Given the description of an element on the screen output the (x, y) to click on. 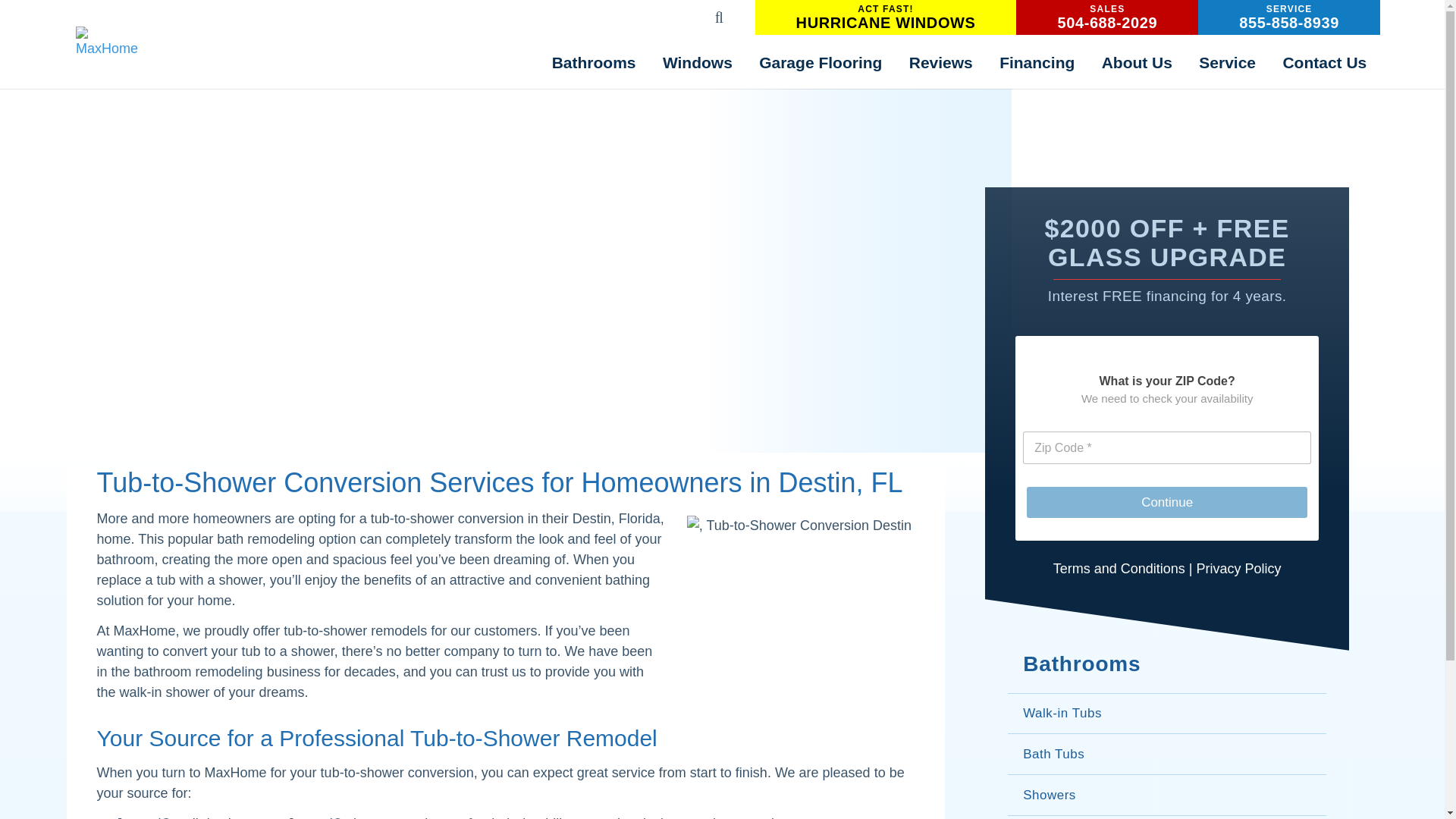
Search (986, 9)
MaxHome (106, 43)
Bathrooms (593, 61)
Tub-to-Shower Conversion Destin FL (800, 618)
Windows (885, 17)
